Given the description of an element on the screen output the (x, y) to click on. 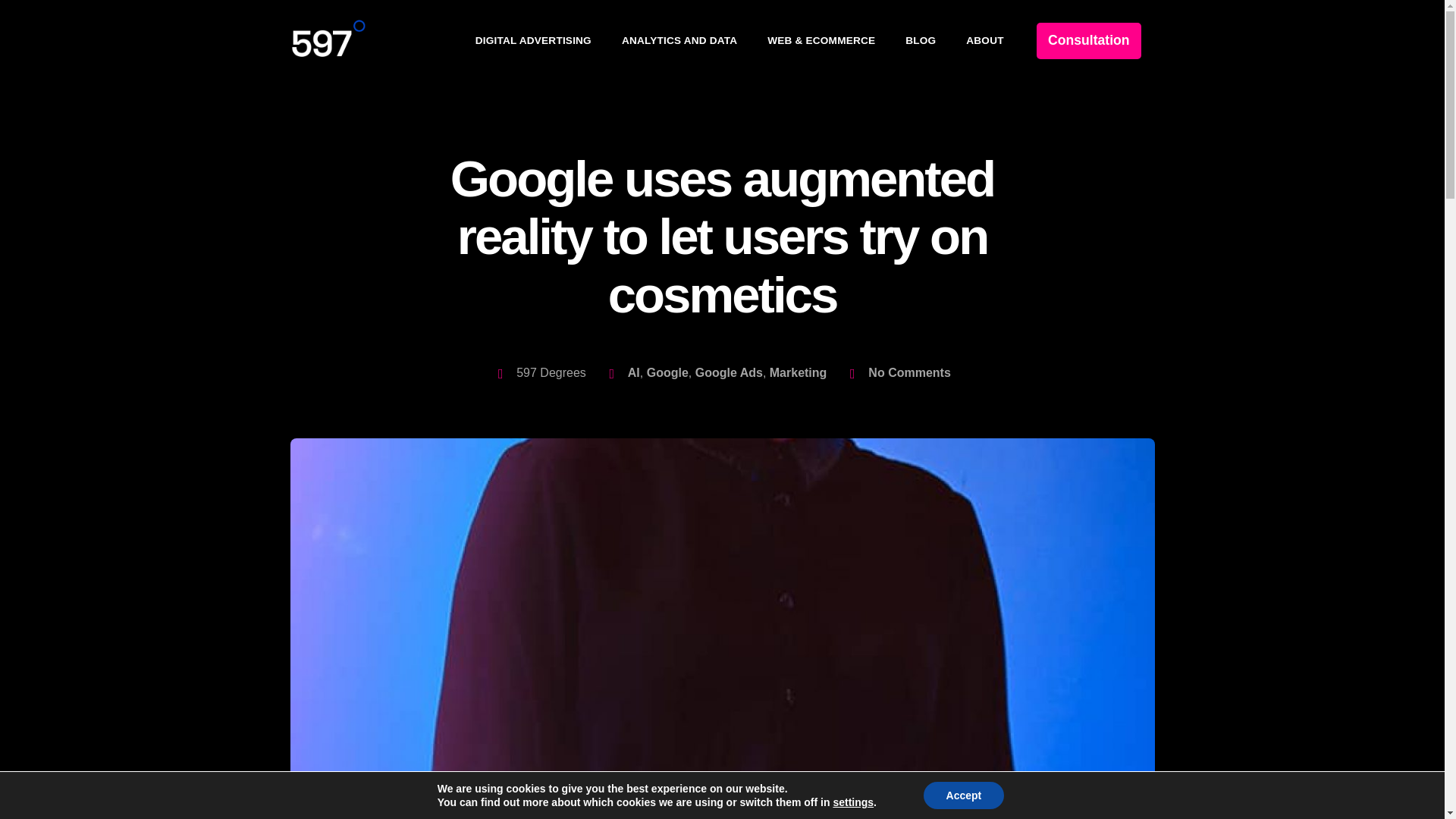
597-Degrees-Logo-Light-blue (327, 36)
No Comments (897, 372)
AI (633, 372)
Google (667, 372)
settings (852, 802)
ABOUT (983, 40)
BLOG (919, 40)
ANALYTICS AND DATA (679, 40)
Consultation (1088, 40)
DIGITAL ADVERTISING (533, 40)
